Given the description of an element on the screen output the (x, y) to click on. 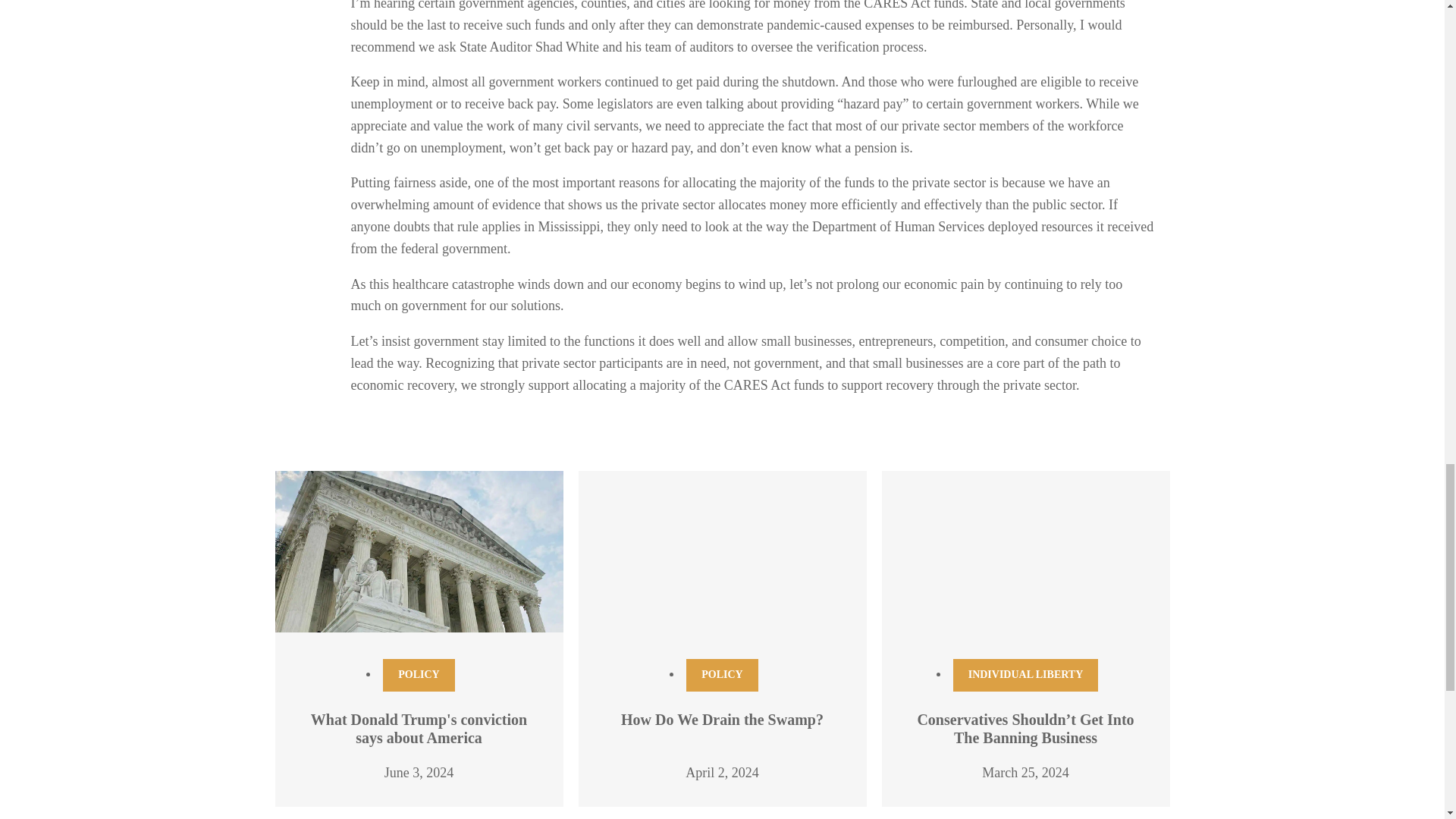
POLICY (721, 675)
What Donald Trump's conviction says about America (419, 728)
How Do We Drain the Swamp? (722, 719)
POLICY (418, 675)
